Given the description of an element on the screen output the (x, y) to click on. 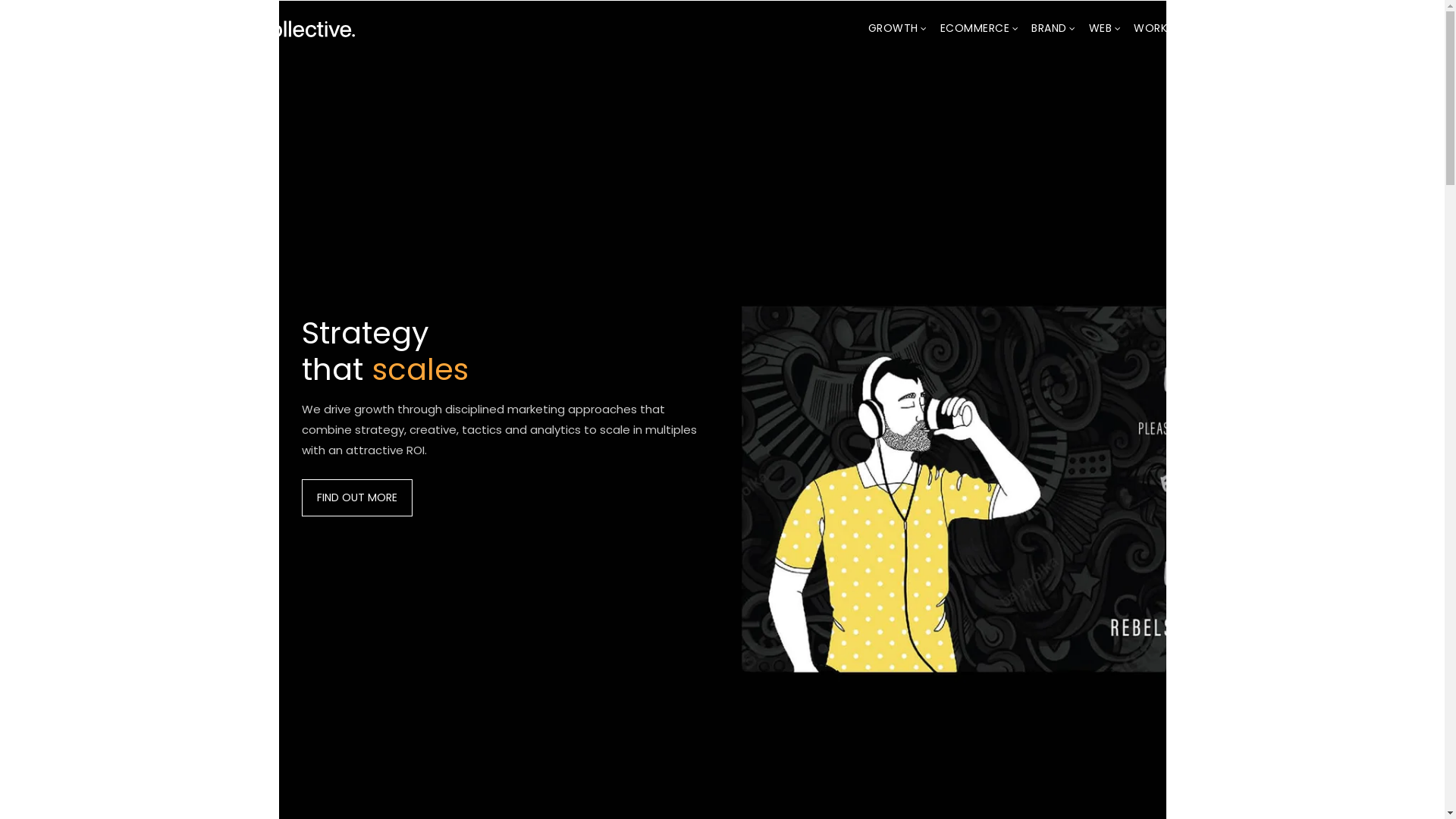
FIND OUT MORE Element type: text (356, 497)
ECOMMERCE Element type: text (974, 28)
WORK Element type: text (1149, 28)
WEB Element type: text (1099, 28)
GROWTH Element type: text (893, 28)
BRAND Element type: text (1048, 28)
CONTACT Element type: text (1213, 28)
